Given the description of an element on the screen output the (x, y) to click on. 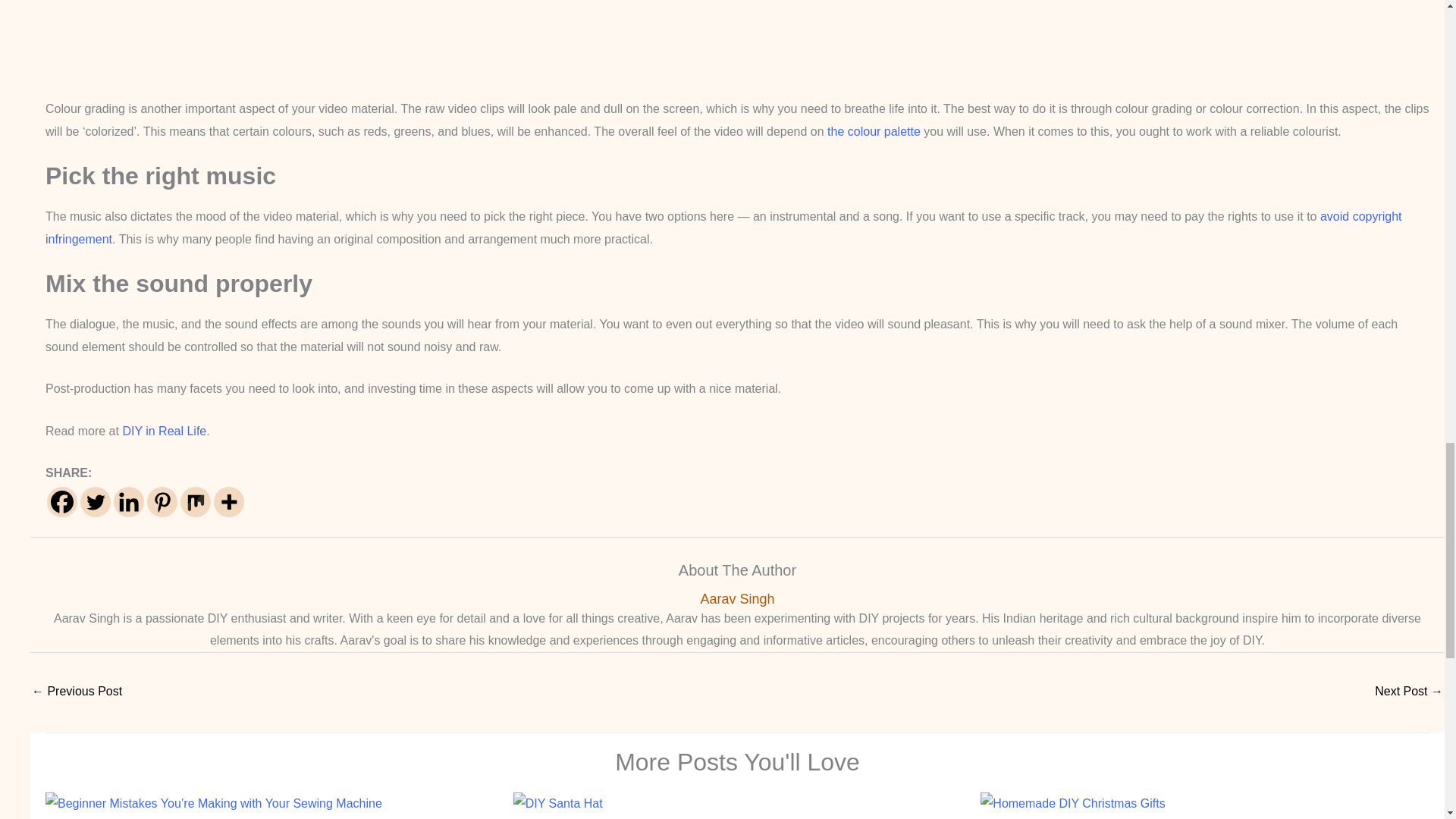
Mix (195, 501)
avoid copyright infringement (723, 227)
Esquire (873, 131)
Pinterest (162, 501)
Linkedin (128, 501)
Twitter (95, 501)
More (229, 501)
legalzoom.com (723, 227)
the colour palette (873, 131)
Aarav Singh (737, 599)
Facebook (61, 501)
DIY in Real Life (164, 431)
videographer (737, 39)
